Given the description of an element on the screen output the (x, y) to click on. 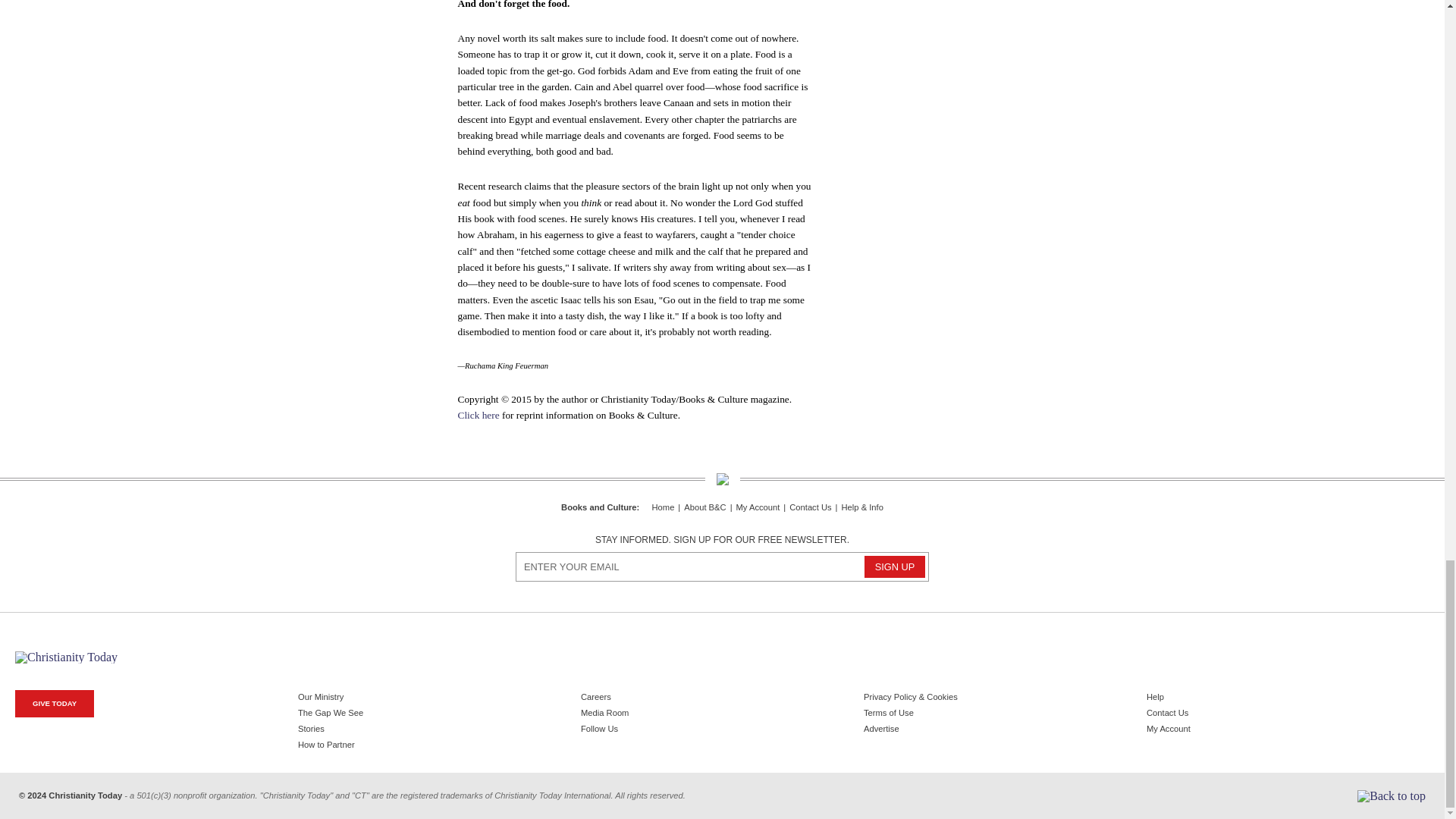
Christianity Today (65, 657)
Sign Up (894, 567)
Click here (478, 414)
Back to top (1390, 796)
